Given the description of an element on the screen output the (x, y) to click on. 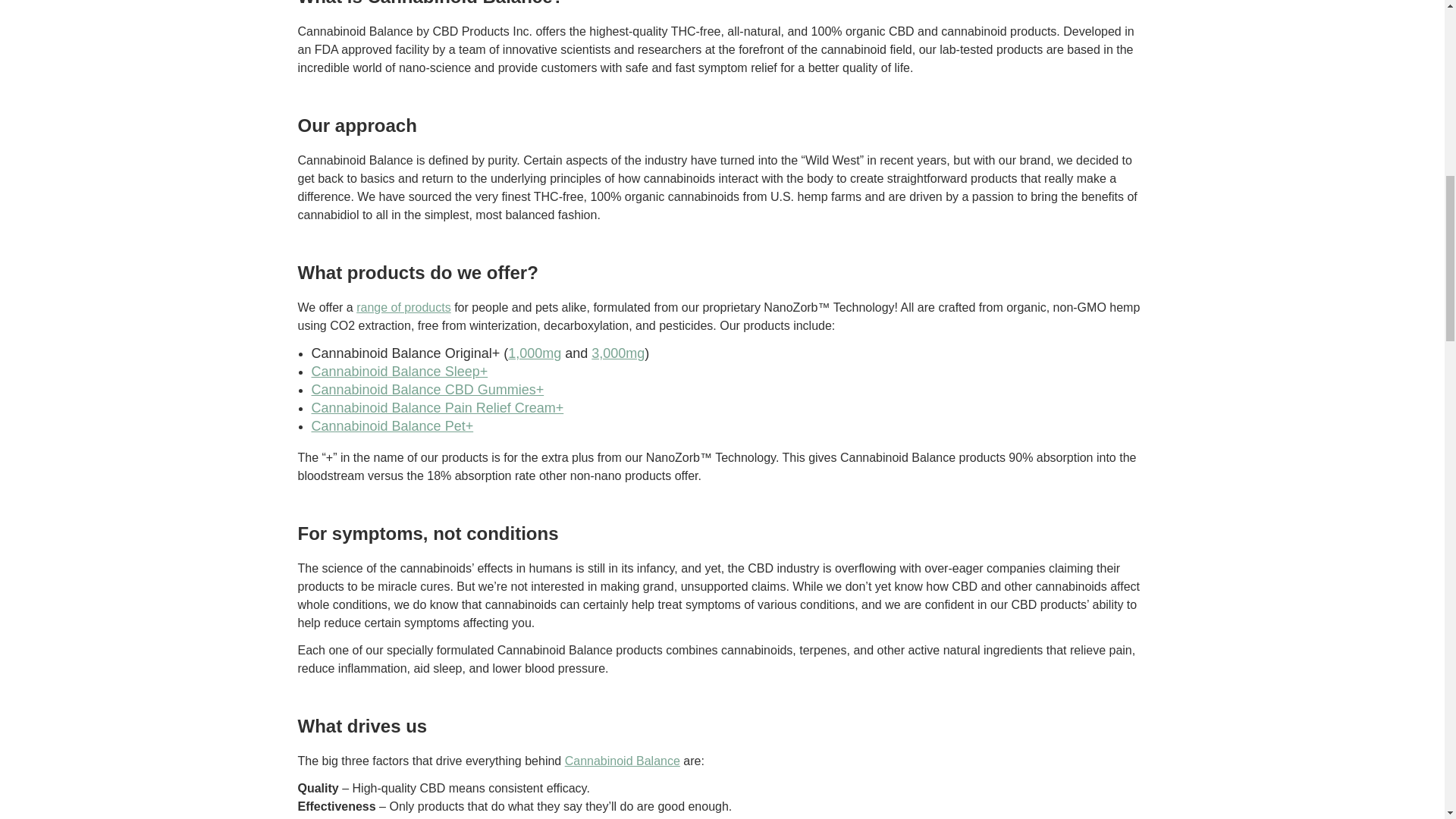
Cannabinoid Balance (621, 760)
1,000mg (534, 353)
range of products (403, 307)
3,000mg (618, 353)
